Given the description of an element on the screen output the (x, y) to click on. 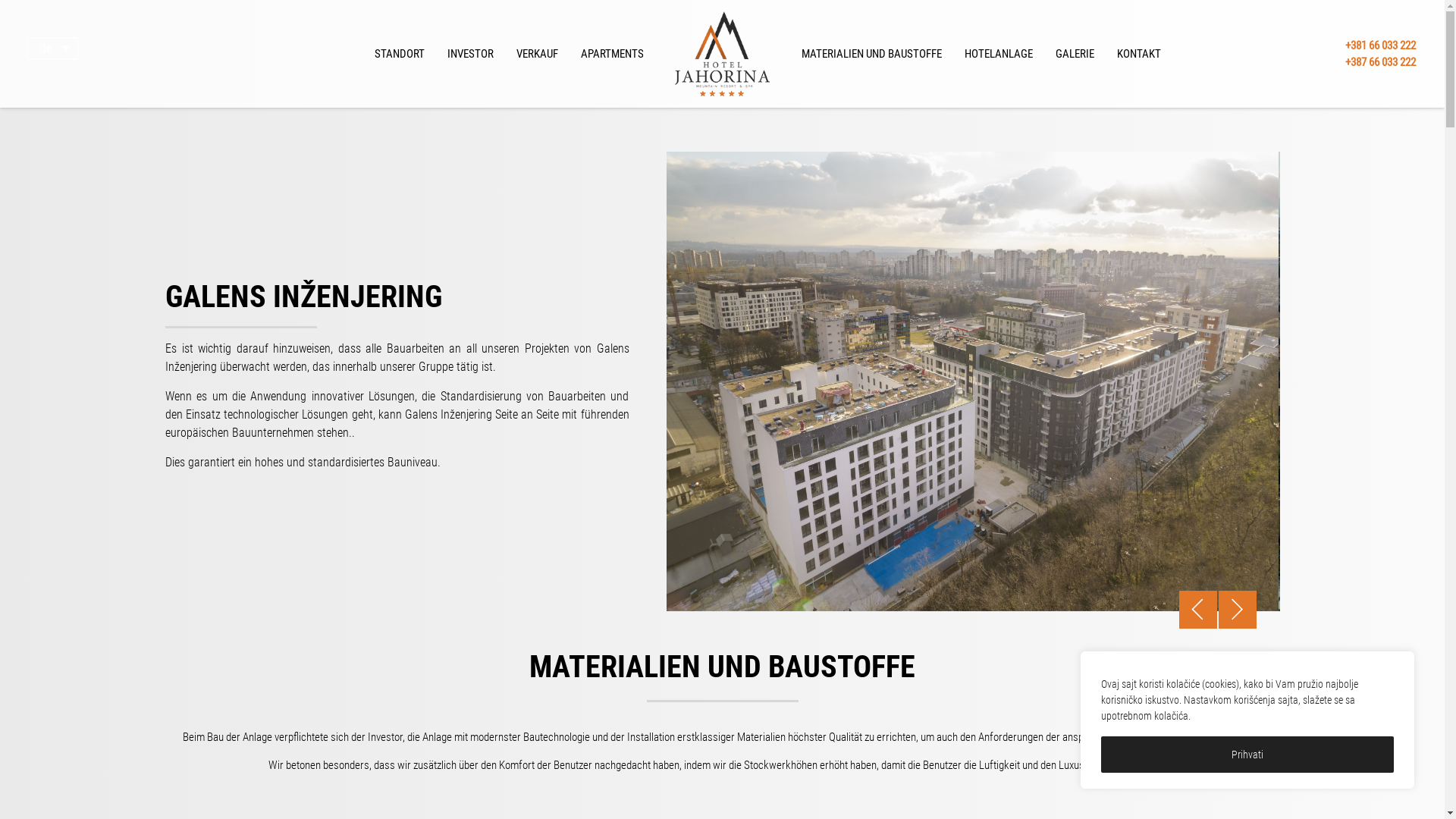
APARTMENTS Element type: text (611, 53)
KONTAKT Element type: text (1138, 53)
MATERIALIEN UND BAUSTOFFE Element type: text (871, 53)
+387 66 033 222 Element type: text (1380, 62)
Prihvati Element type: text (1247, 754)
HOTELANLAGE Element type: text (997, 53)
VERKAUF Element type: text (537, 53)
De Element type: text (52, 48)
INVESTOR Element type: text (469, 53)
GALERIE Element type: text (1073, 53)
+381 66 033 222 Element type: text (1380, 44)
STANDORT Element type: text (398, 53)
